Given the description of an element on the screen output the (x, y) to click on. 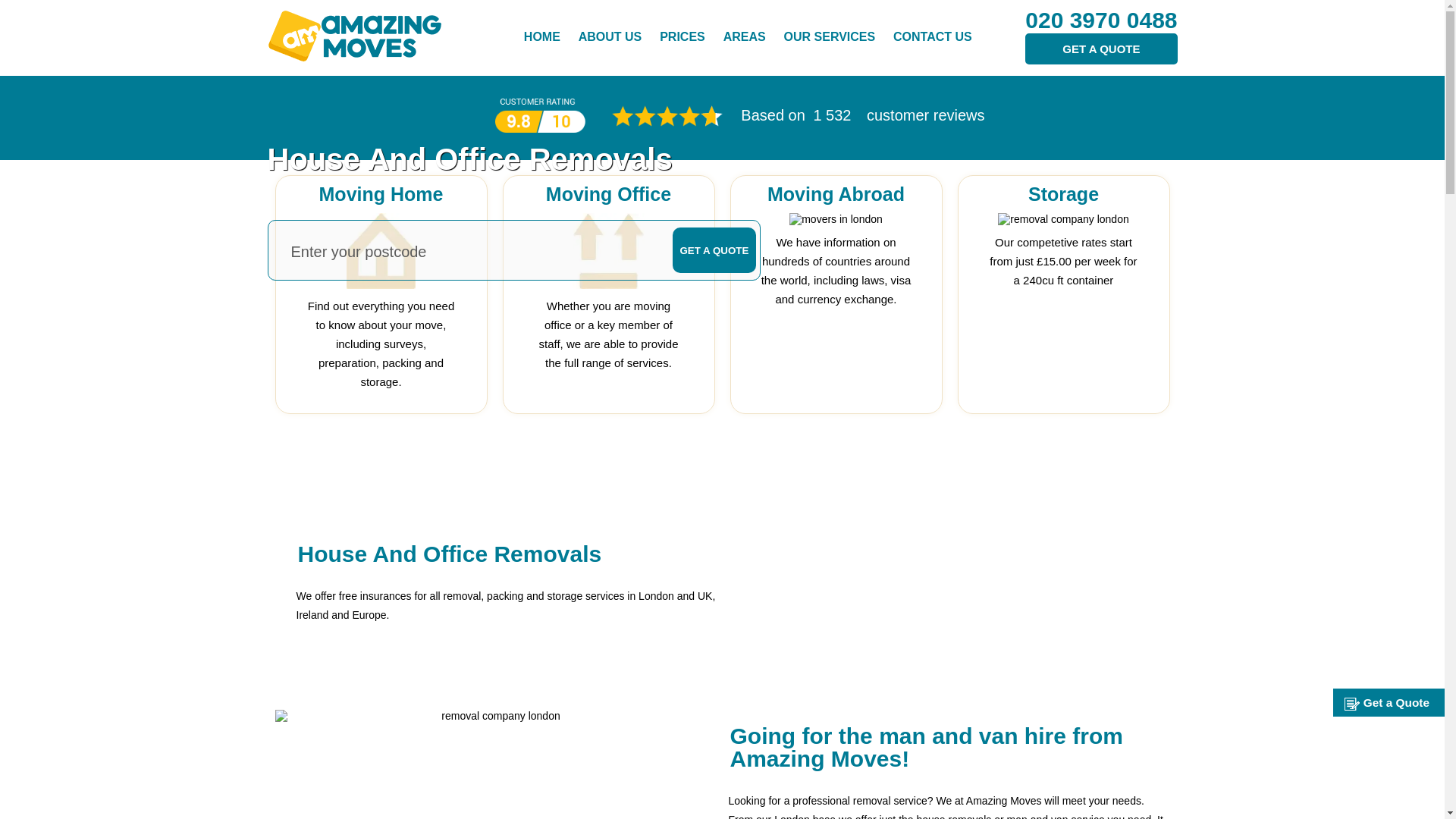
020 3970 0488 (1100, 19)
GET A QUOTE (1100, 48)
PRICES (681, 36)
ABOUT US (610, 36)
GET A QUOTE (713, 249)
Click to check our UK Removals (744, 36)
HOME (542, 36)
CONTACT US (932, 36)
Amazing Moves (353, 30)
Click to check our UK Removals (830, 36)
